Given the description of an element on the screen output the (x, y) to click on. 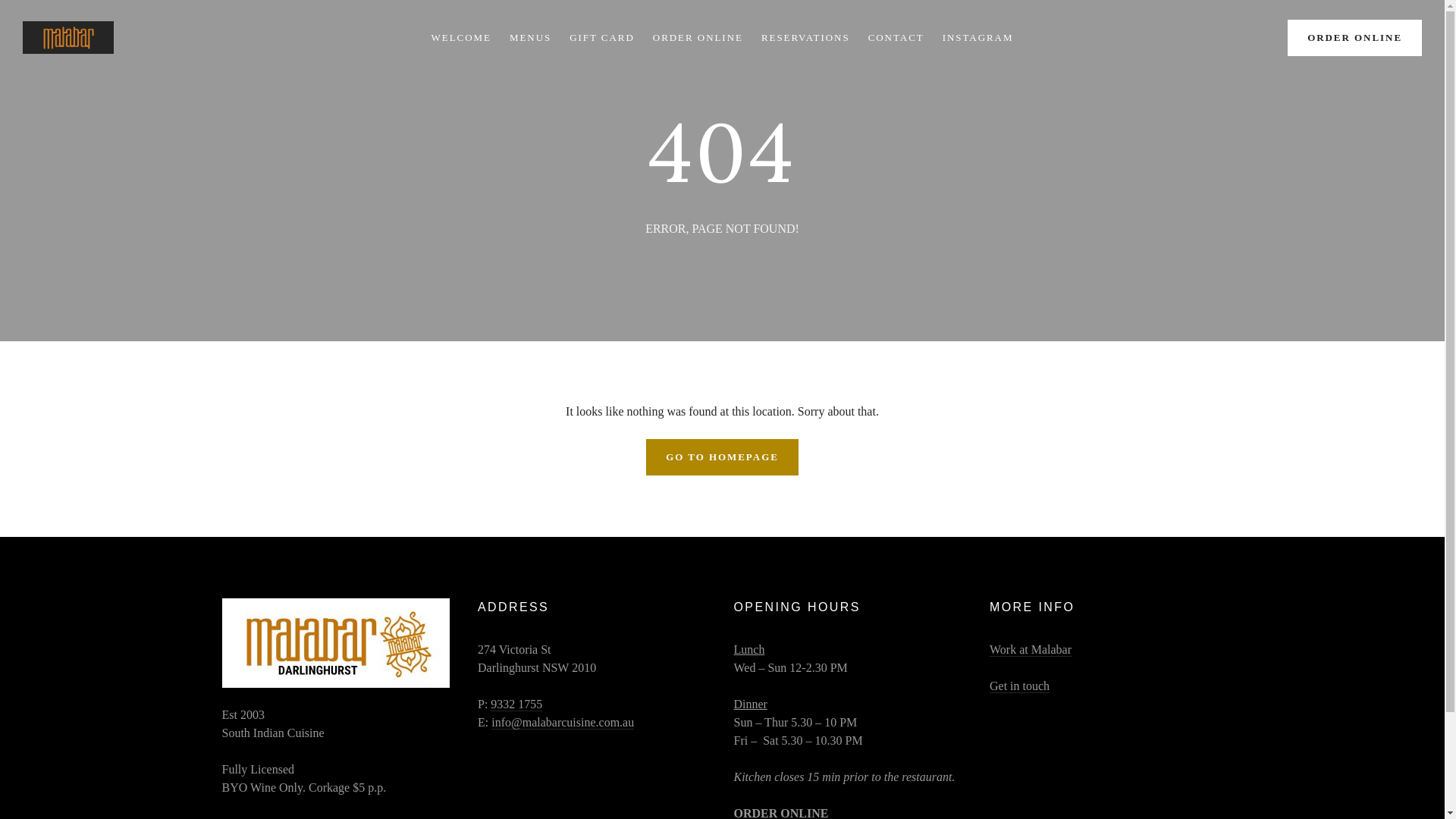
Get in touch Element type: text (1019, 686)
info@malabarcuisine.com.au Element type: text (562, 722)
GO TO HOMEPAGE Element type: text (722, 457)
ORDER ONLINE Element type: text (1354, 37)
9332 1755 Element type: text (516, 704)
GIFT CARD Element type: text (601, 37)
ORDER ONLINE Element type: text (697, 37)
RESERVATIONS Element type: text (805, 37)
MENUS Element type: text (530, 37)
WELCOME Element type: text (461, 37)
CONTACT Element type: text (896, 37)
Work at Malabar Element type: text (1030, 649)
INSTAGRAM Element type: text (977, 37)
